Given the description of an element on the screen output the (x, y) to click on. 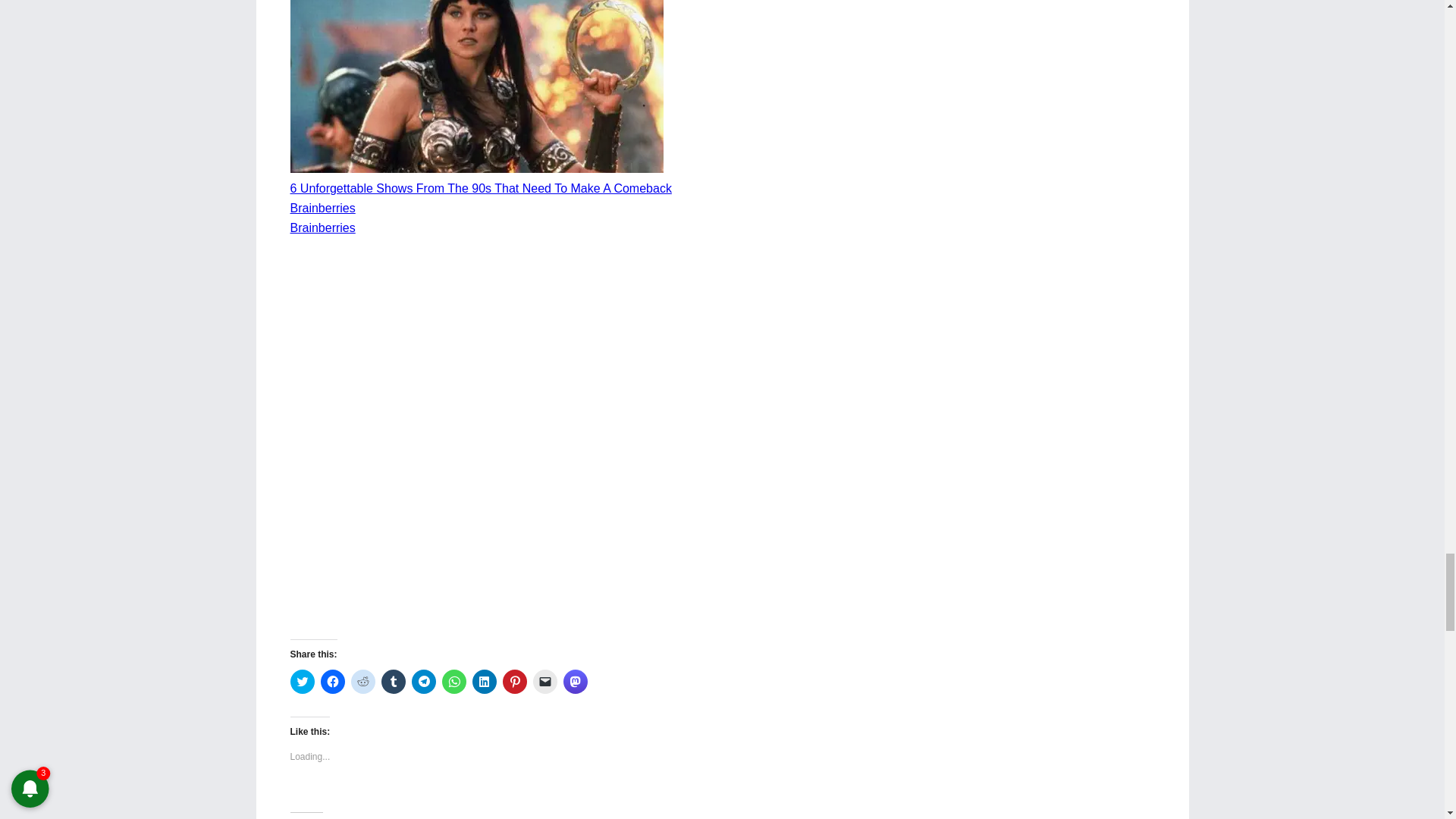
Click to email a link to a friend (544, 681)
Click to share on Tumblr (392, 681)
Click to share on Reddit (362, 681)
Click to share on Facebook (331, 681)
Click to share on Mastodon (574, 681)
Click to share on LinkedIn (483, 681)
Click to share on Pinterest (513, 681)
Click to share on WhatsApp (453, 681)
Click to share on Twitter (301, 681)
Click to share on Telegram (422, 681)
